Given the description of an element on the screen output the (x, y) to click on. 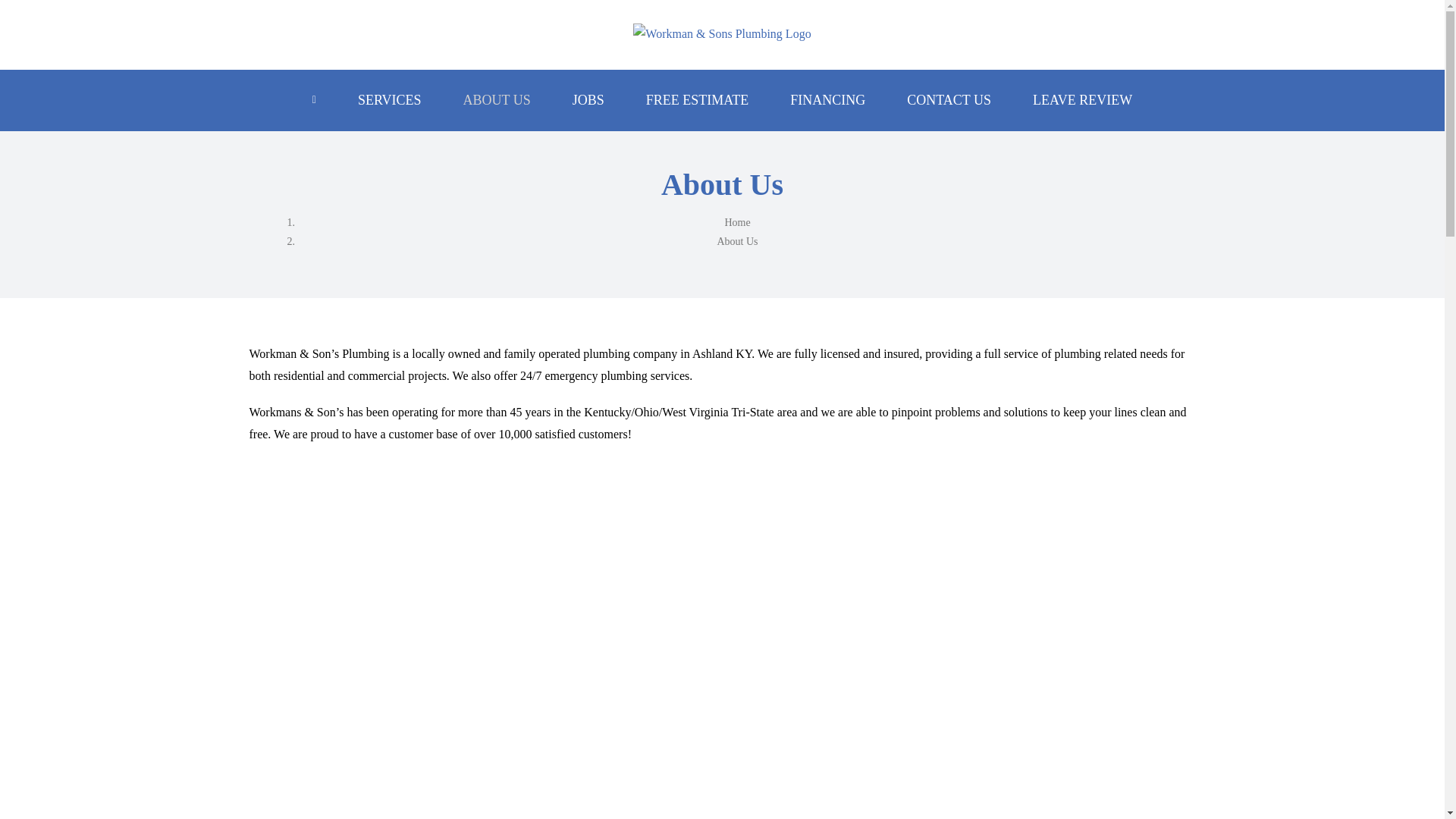
adipost120820 (742, 771)
SERVICES (390, 99)
CONTACT US (949, 99)
ABOUT US (497, 99)
LEAVE REVIEW (1082, 99)
2022 (742, 585)
FINANCING (827, 99)
Home (736, 222)
2023 (401, 585)
2021 (401, 771)
